Given the description of an element on the screen output the (x, y) to click on. 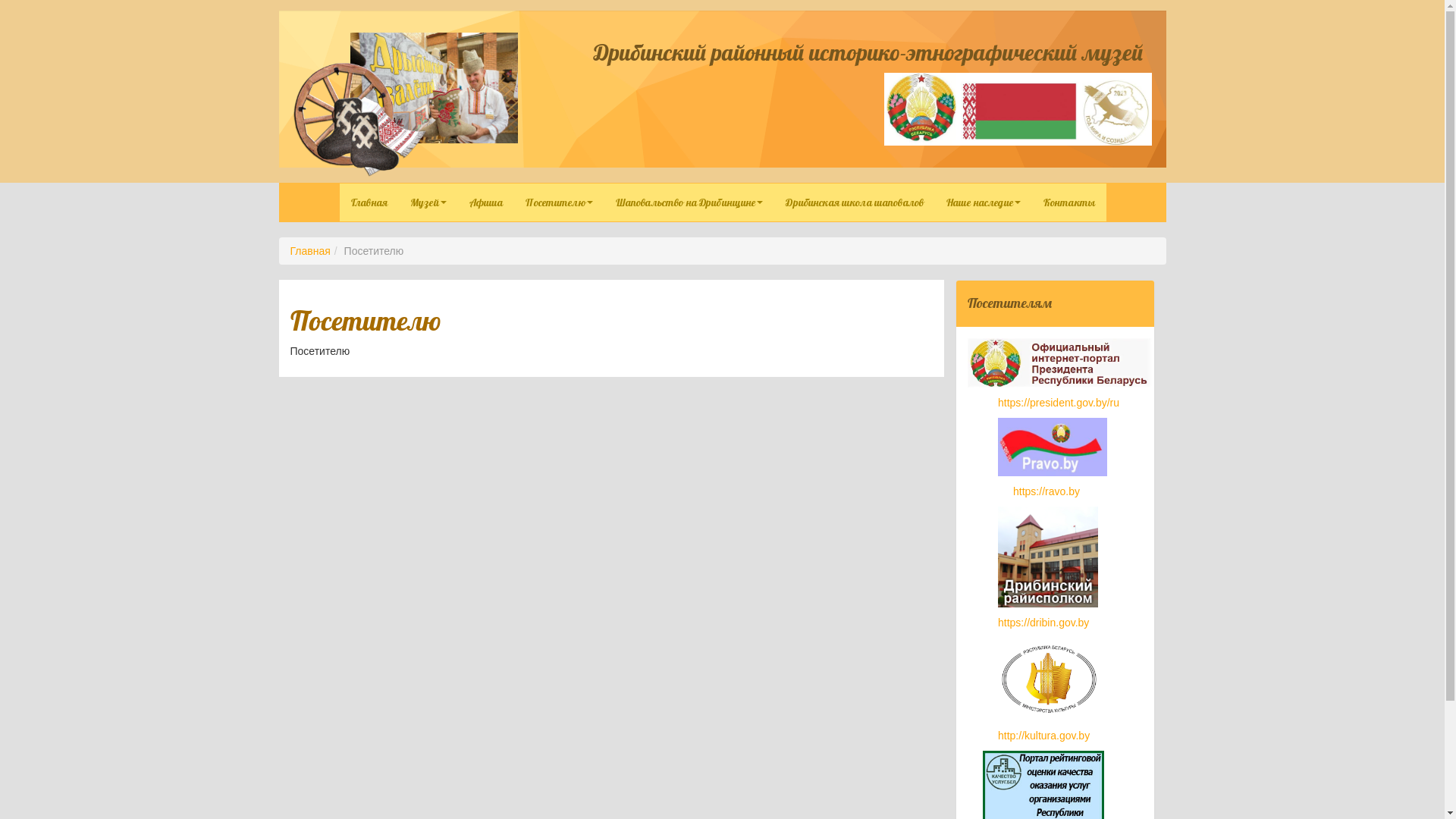
https://dribin.gov.by Element type: text (1042, 622)
http://kultura.gov.by Element type: text (1043, 735)
https://ravo.by Element type: text (1046, 491)
https://president.gov.by/ru Element type: text (1058, 402)
